Given the description of an element on the screen output the (x, y) to click on. 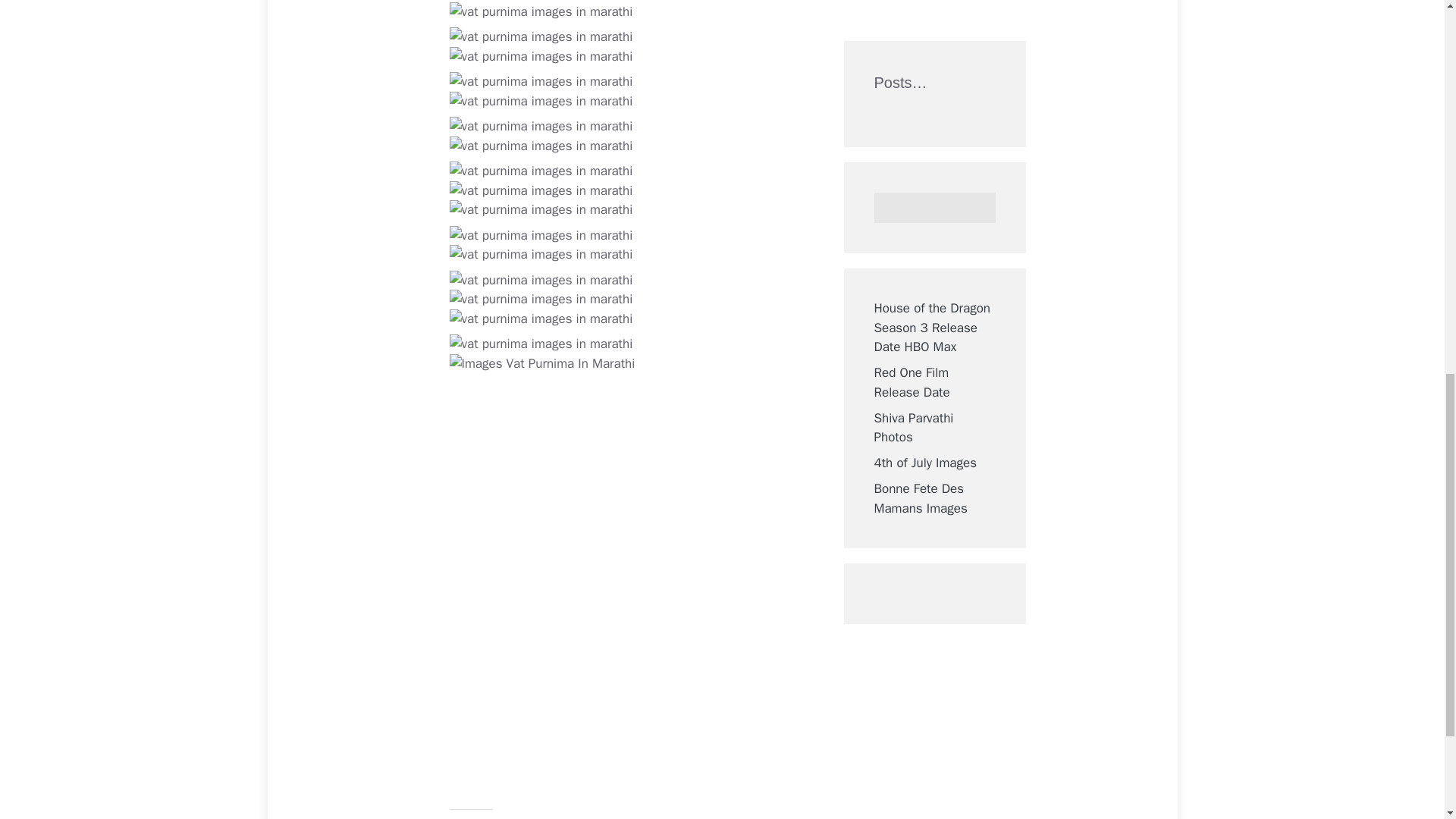
Vat Purnima Images In Marathi 5 (539, 12)
Vat Purnima Images In Marathi 9 (539, 101)
Vat Purnima Images In Marathi 8 (539, 81)
Vat Purnima Images In Marathi 11 (539, 146)
Vat Purnima Images In Marathi 6 (539, 36)
Vat Purnima Images In Marathi 10 (539, 126)
Vat Purnima Images In Marathi 4 (539, 1)
Bonne Fete Des Mamans Images (919, 49)
4th of July Images (924, 13)
Vat Purnima Images In Marathi 7 (539, 56)
